Given the description of an element on the screen output the (x, y) to click on. 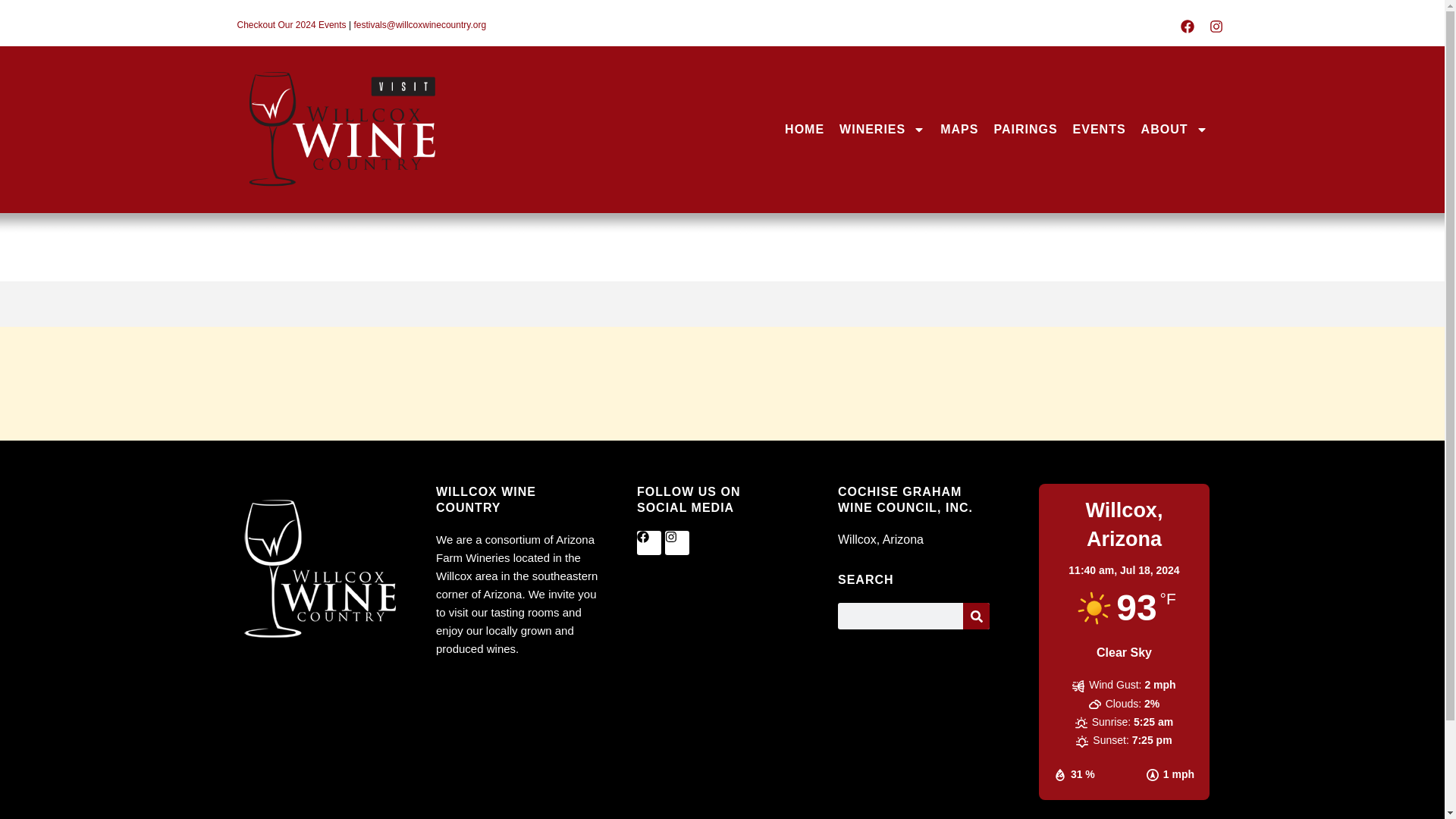
WINERIES (882, 129)
Checkout Our 2024 Events (290, 24)
ABOUT (1174, 129)
MAPS (959, 129)
EVENTS (1099, 129)
PAIRINGS (1024, 129)
HOME (804, 129)
